Given the description of an element on the screen output the (x, y) to click on. 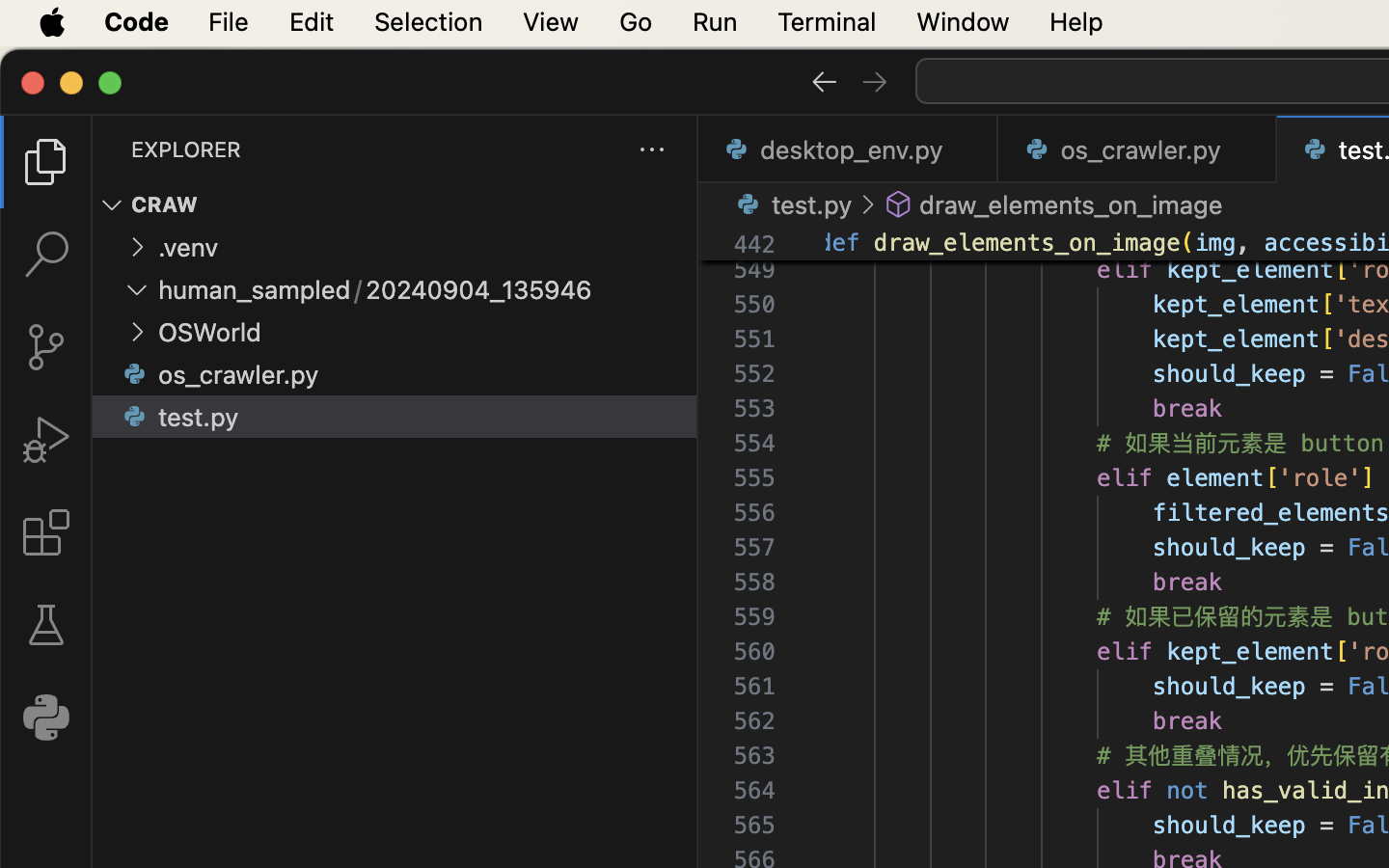
0  Element type: AXRadioButton (46, 254)
 Element type: AXGroup (46, 532)
442 Element type: AXStaticText (754, 244)
1  Element type: AXRadioButton (46, 161)
0 desktop_env.py   Element type: AXRadioButton (848, 149)
